Given the description of an element on the screen output the (x, y) to click on. 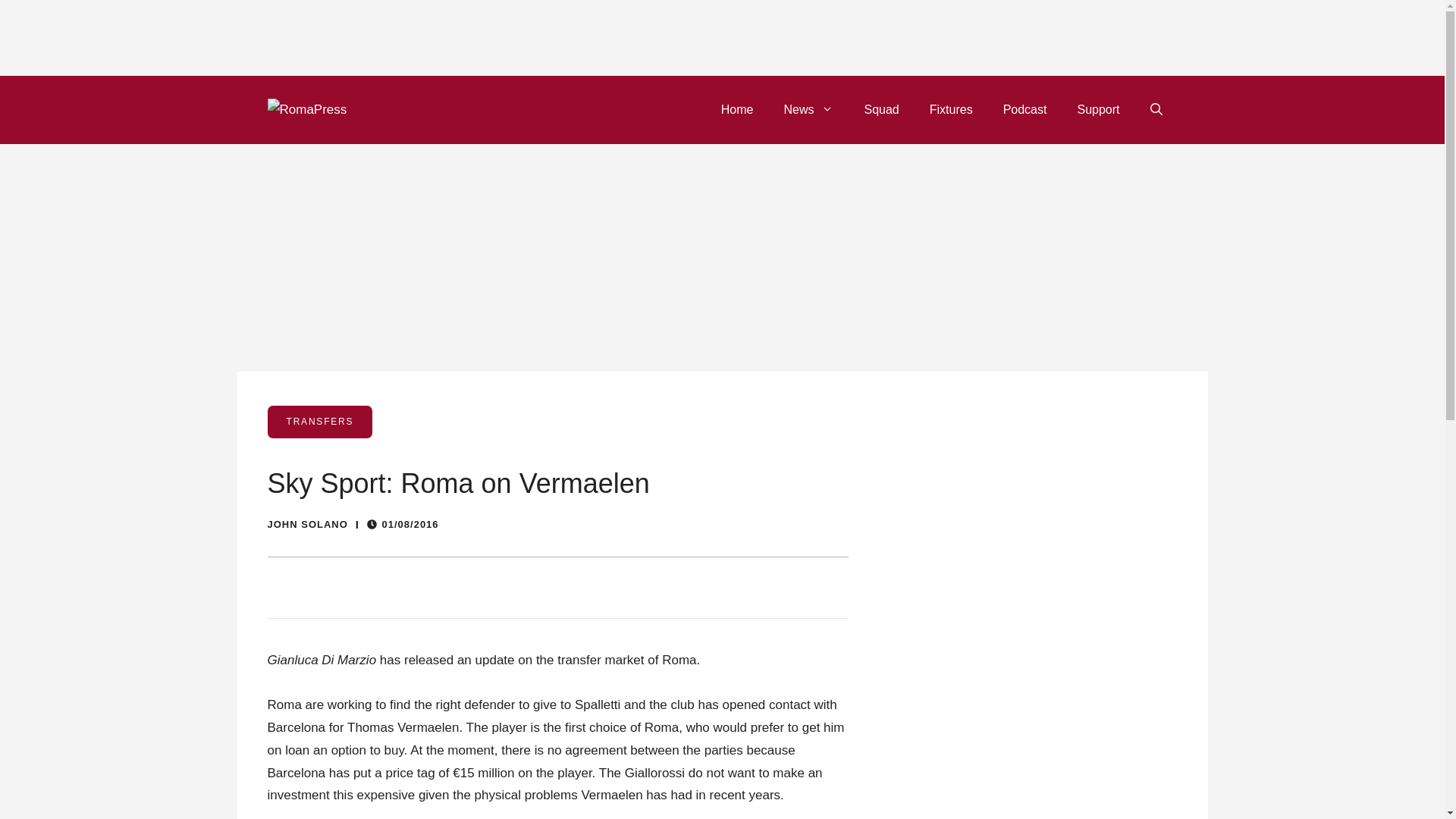
Squad (881, 109)
Fixtures (951, 109)
News (808, 109)
Home (737, 109)
Podcast (1025, 109)
Support (1097, 109)
